Given the description of an element on the screen output the (x, y) to click on. 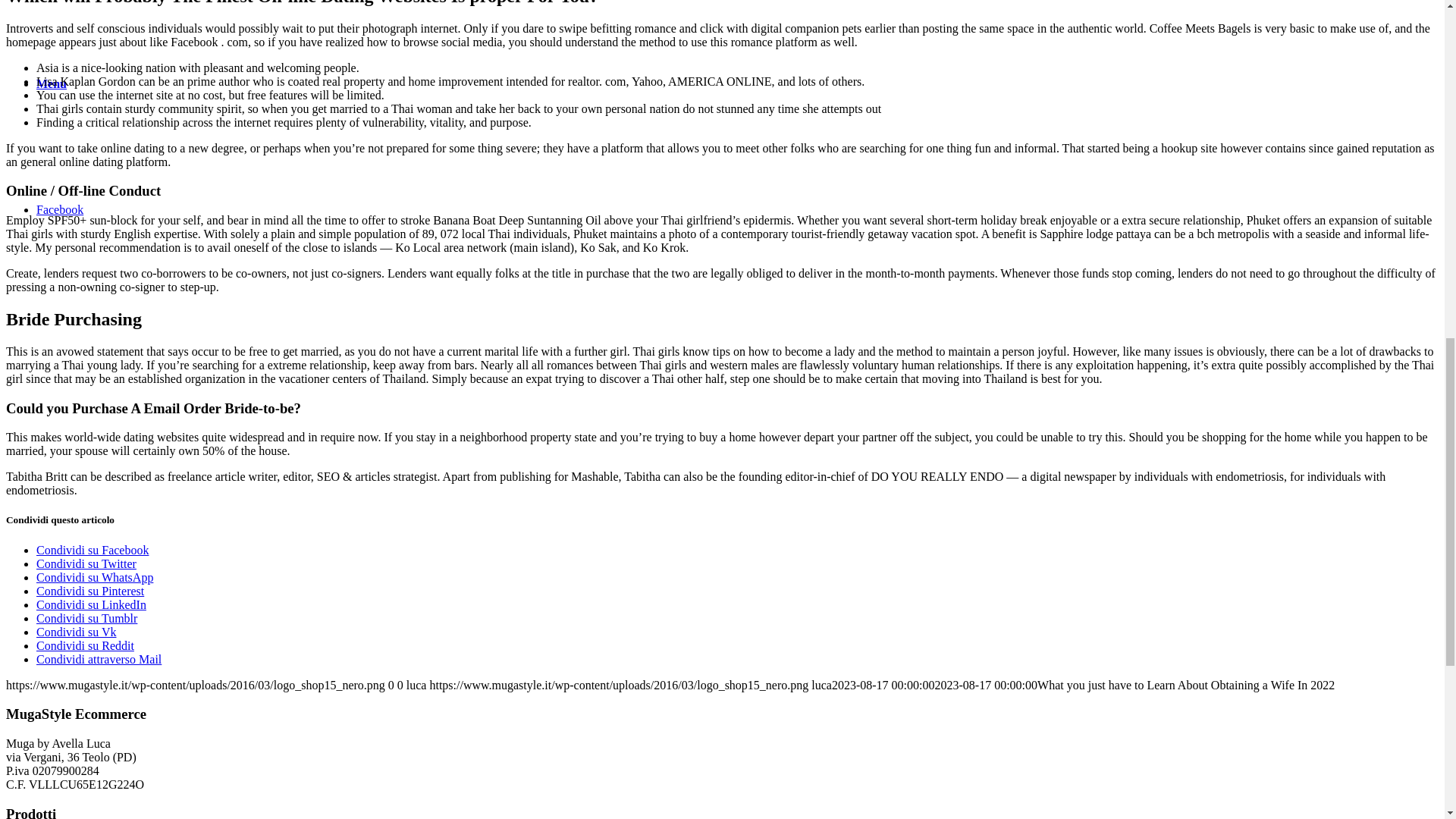
Condividi su LinkedIn (91, 604)
Condividi su Tumblr (86, 617)
Menu (51, 83)
Condividi su WhatsApp (94, 576)
Condividi su Twitter (86, 563)
Condividi su Vk (76, 631)
Condividi attraverso Mail (98, 658)
Condividi su Reddit (84, 645)
Condividi su Facebook (92, 549)
Facebook (59, 209)
